Given the description of an element on the screen output the (x, y) to click on. 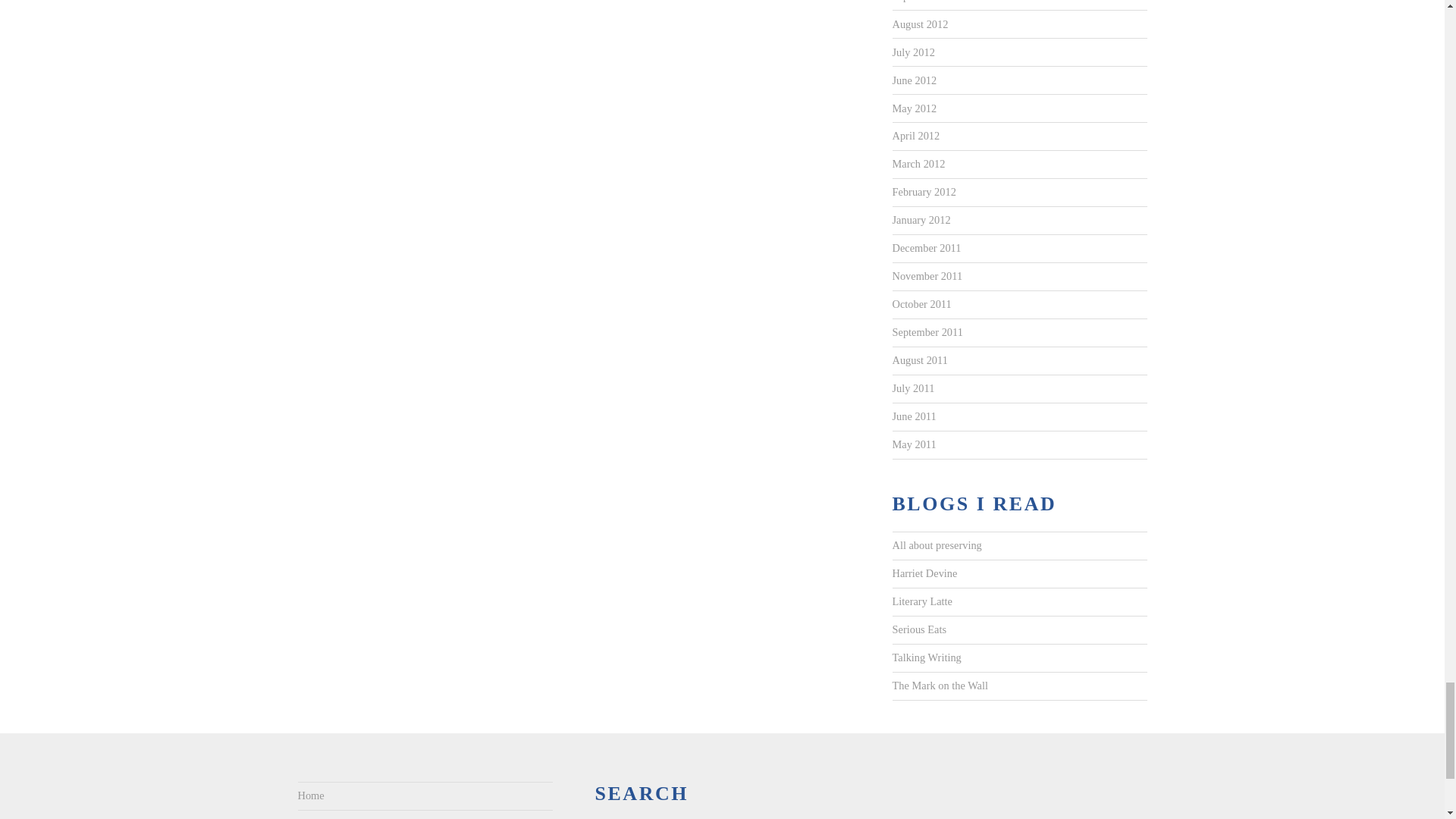
Orange County Literary Blog (939, 685)
Online literary magazine with work I like! (921, 602)
